Given the description of an element on the screen output the (x, y) to click on. 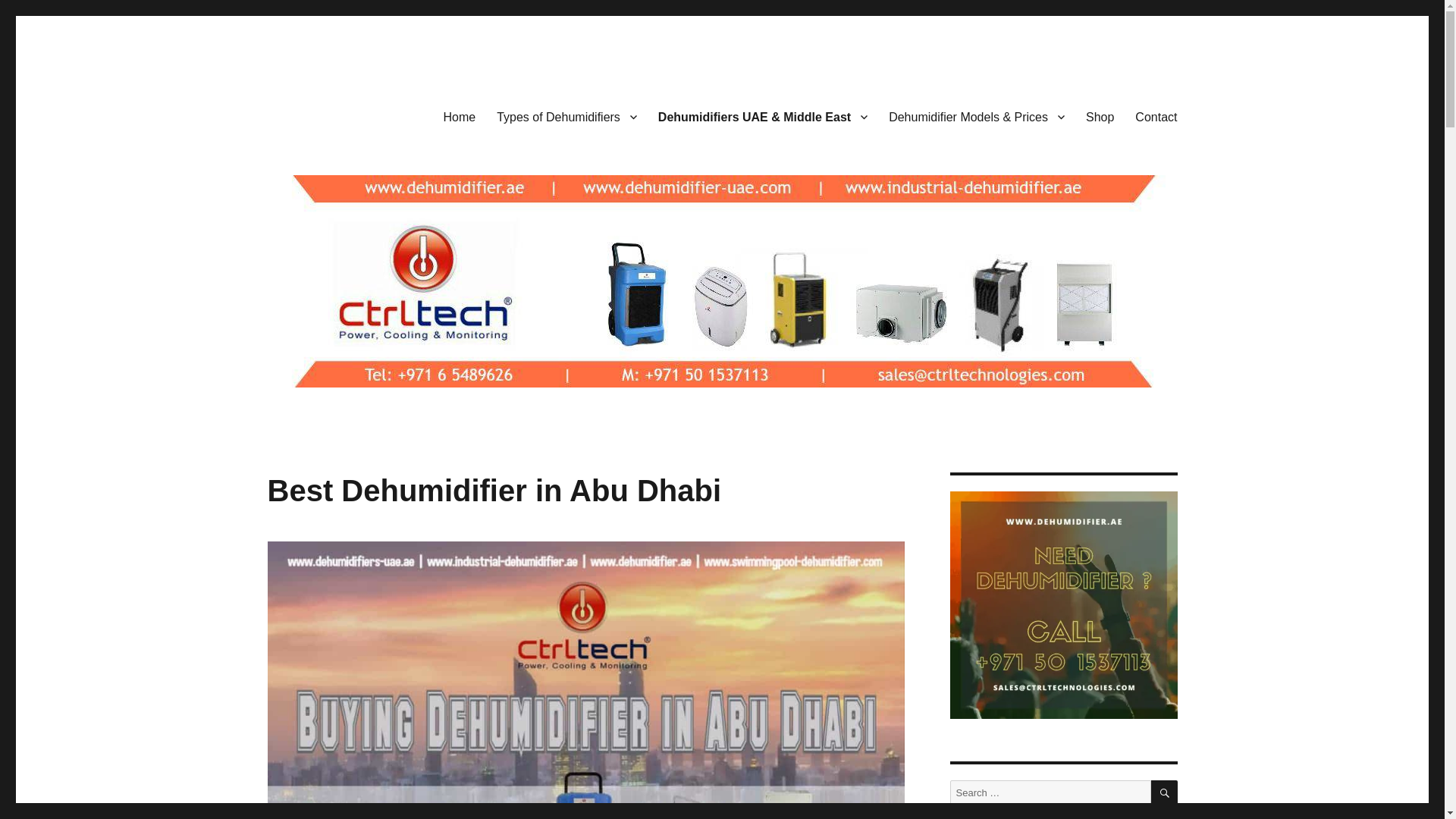
Shop (1099, 116)
Contact (1156, 116)
Home (459, 116)
Types of Dehumidifiers (566, 116)
